Given the description of an element on the screen output the (x, y) to click on. 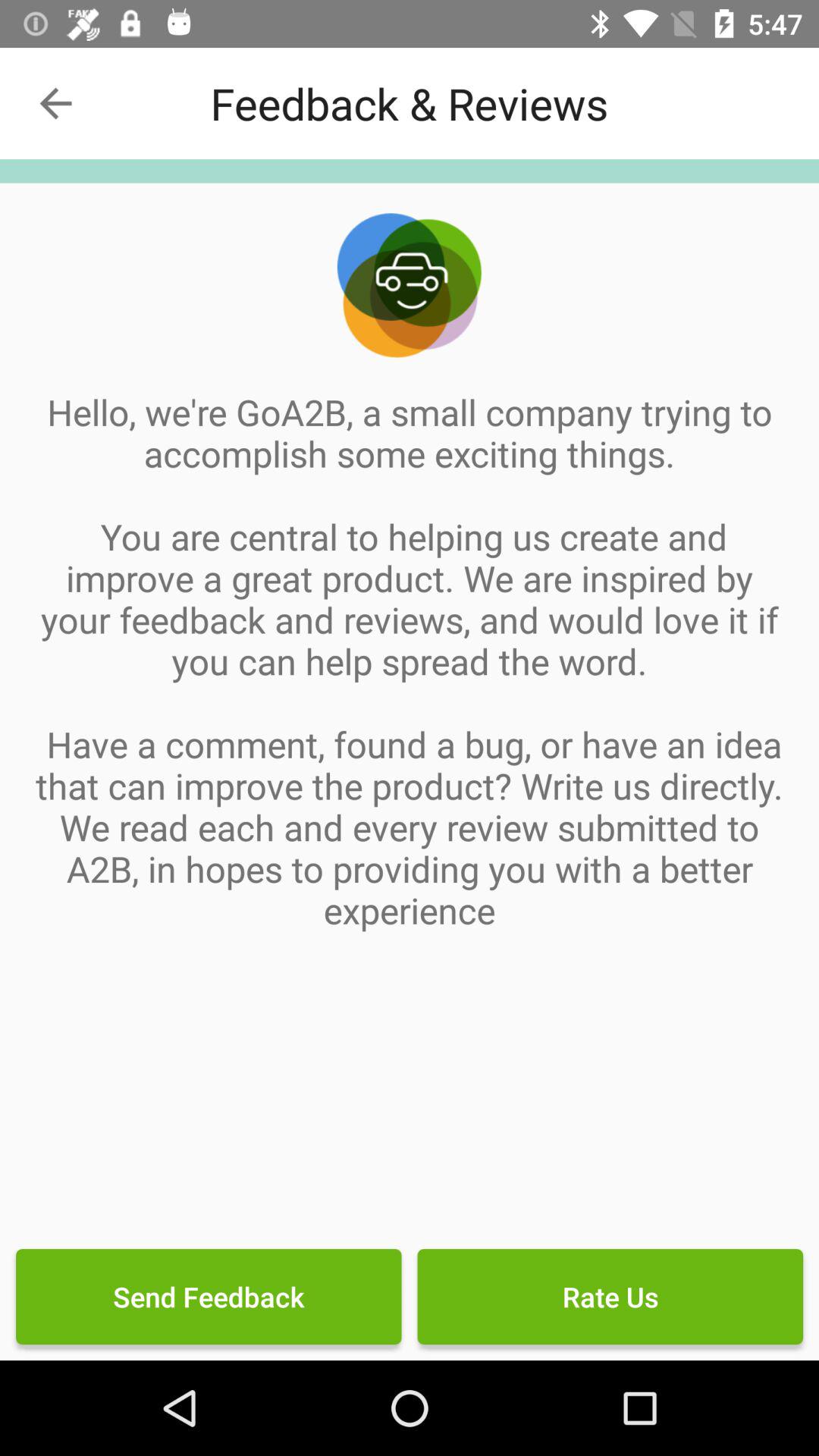
turn on icon next to feedback & reviews item (55, 103)
